Given the description of an element on the screen output the (x, y) to click on. 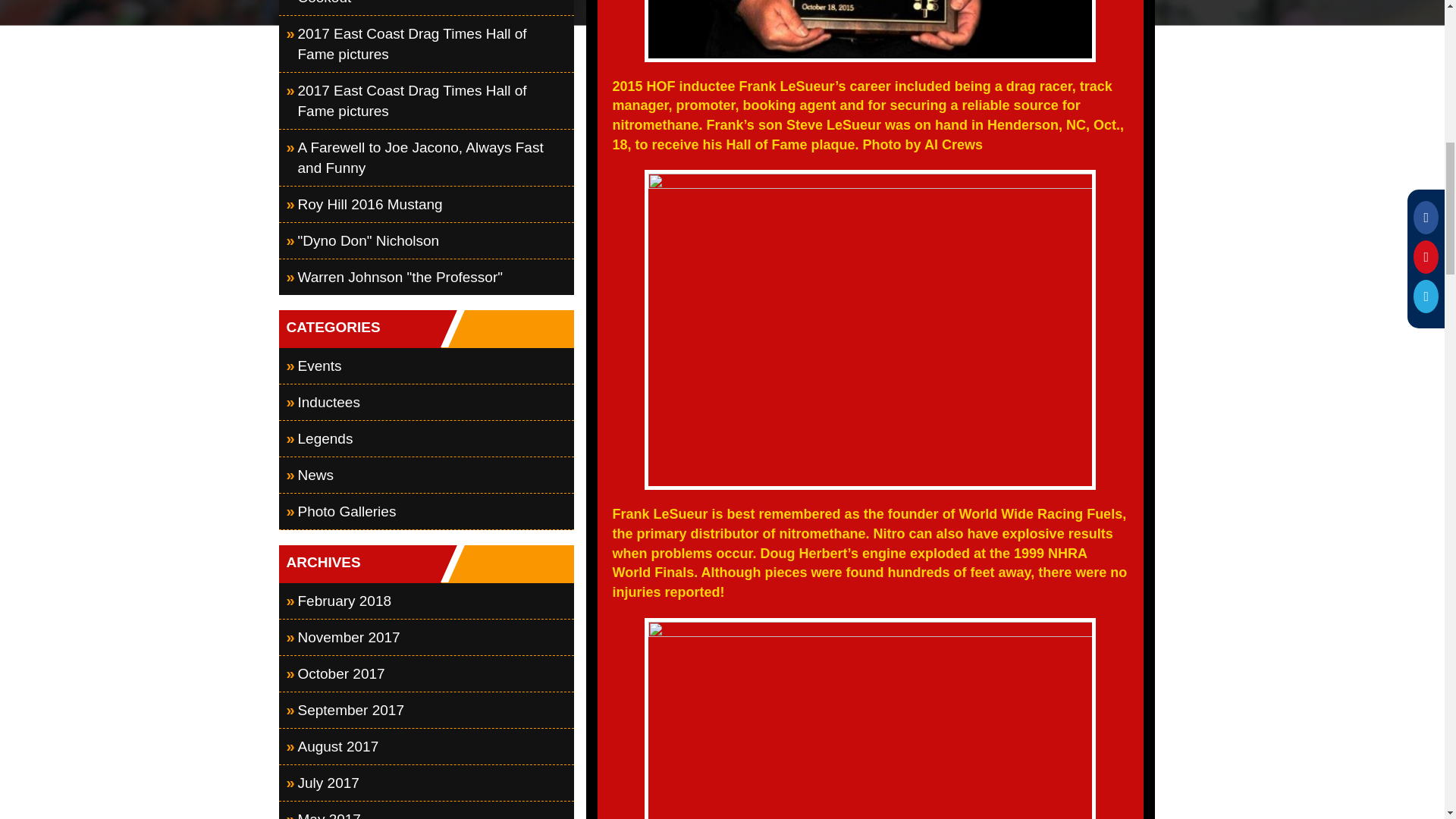
"Dyno Don" Nicholson (427, 240)
Legends (427, 438)
July 2017 (427, 782)
2017 East Coast Drag Times Hall of Fame pictures (427, 43)
November 2017 (427, 637)
May 2017 (427, 810)
News (427, 475)
A Farewell to Joe Jacono, Always Fast and Funny (427, 157)
Inductees (427, 402)
February 2018 (427, 601)
